Given the description of an element on the screen output the (x, y) to click on. 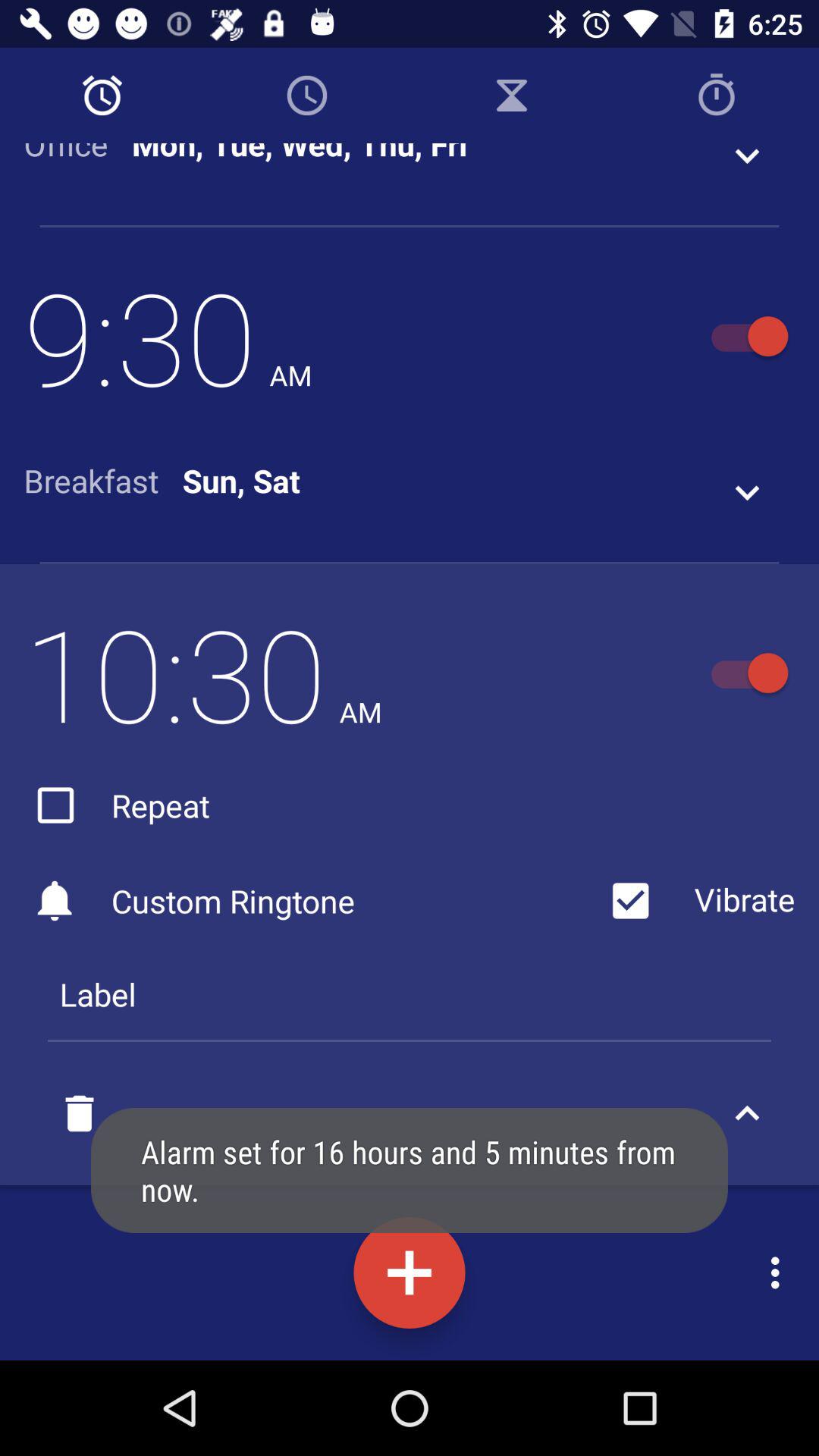
turn off the repeat (116, 805)
